Given the description of an element on the screen output the (x, y) to click on. 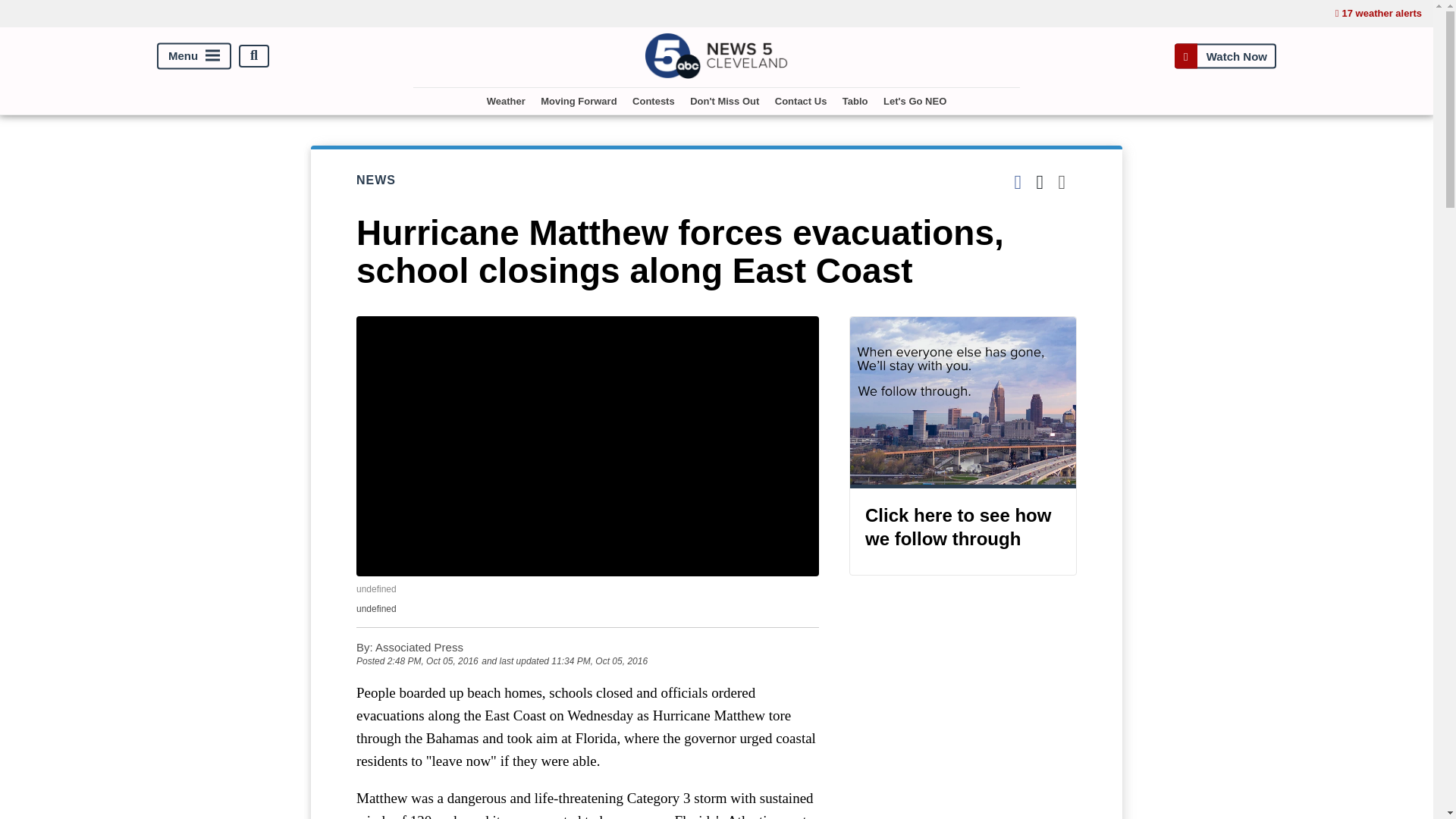
Watch Now (1224, 55)
Menu (194, 55)
